Given the description of an element on the screen output the (x, y) to click on. 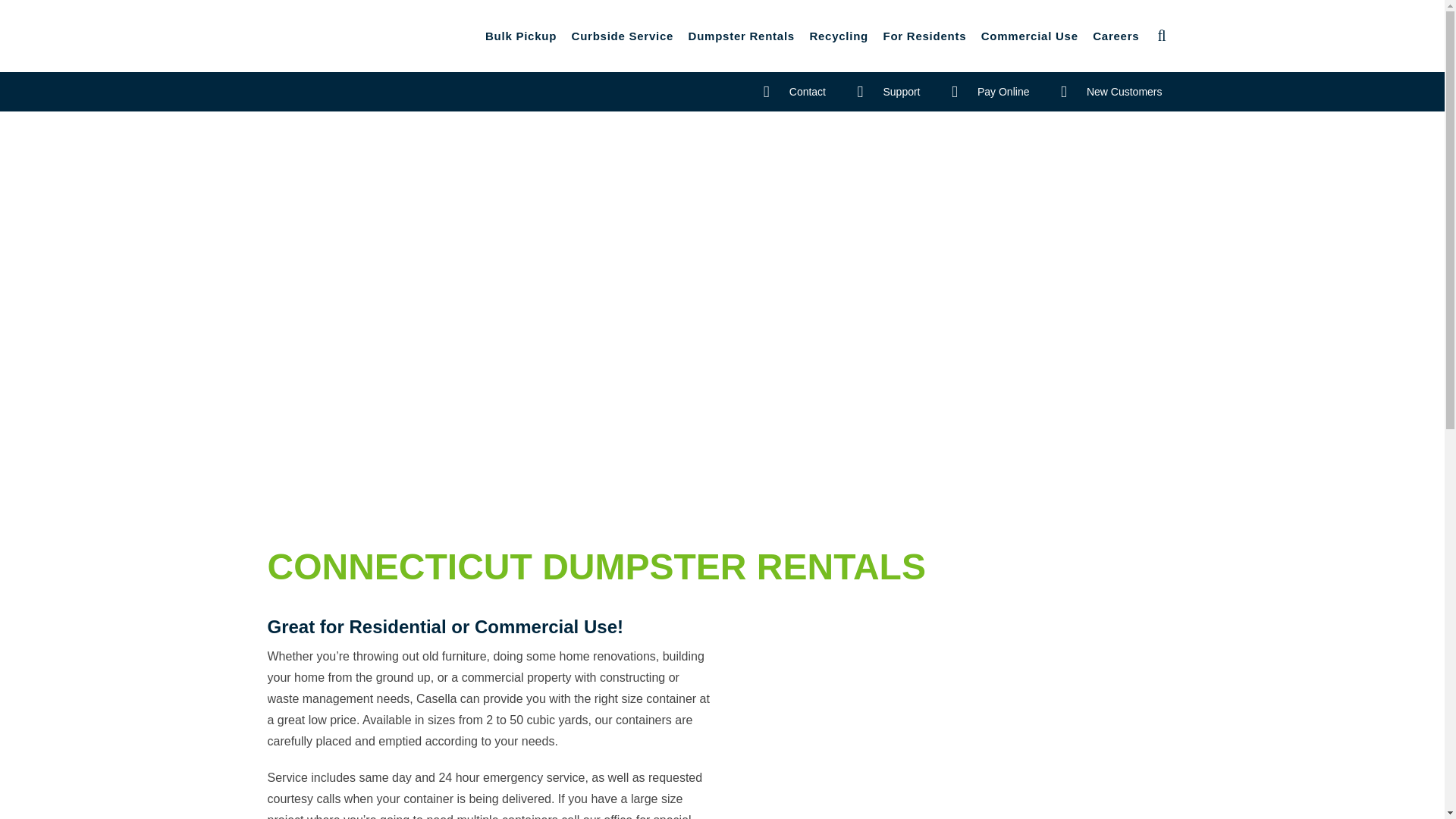
Support (887, 91)
For Residents (924, 36)
New Customers (1111, 91)
Contact (794, 91)
Bulk Pickup (521, 36)
Recycling (838, 36)
Curbside Service (622, 36)
Dumpster Rentals (741, 36)
Pay Online (989, 91)
Commercial Use (1029, 36)
